Given the description of an element on the screen output the (x, y) to click on. 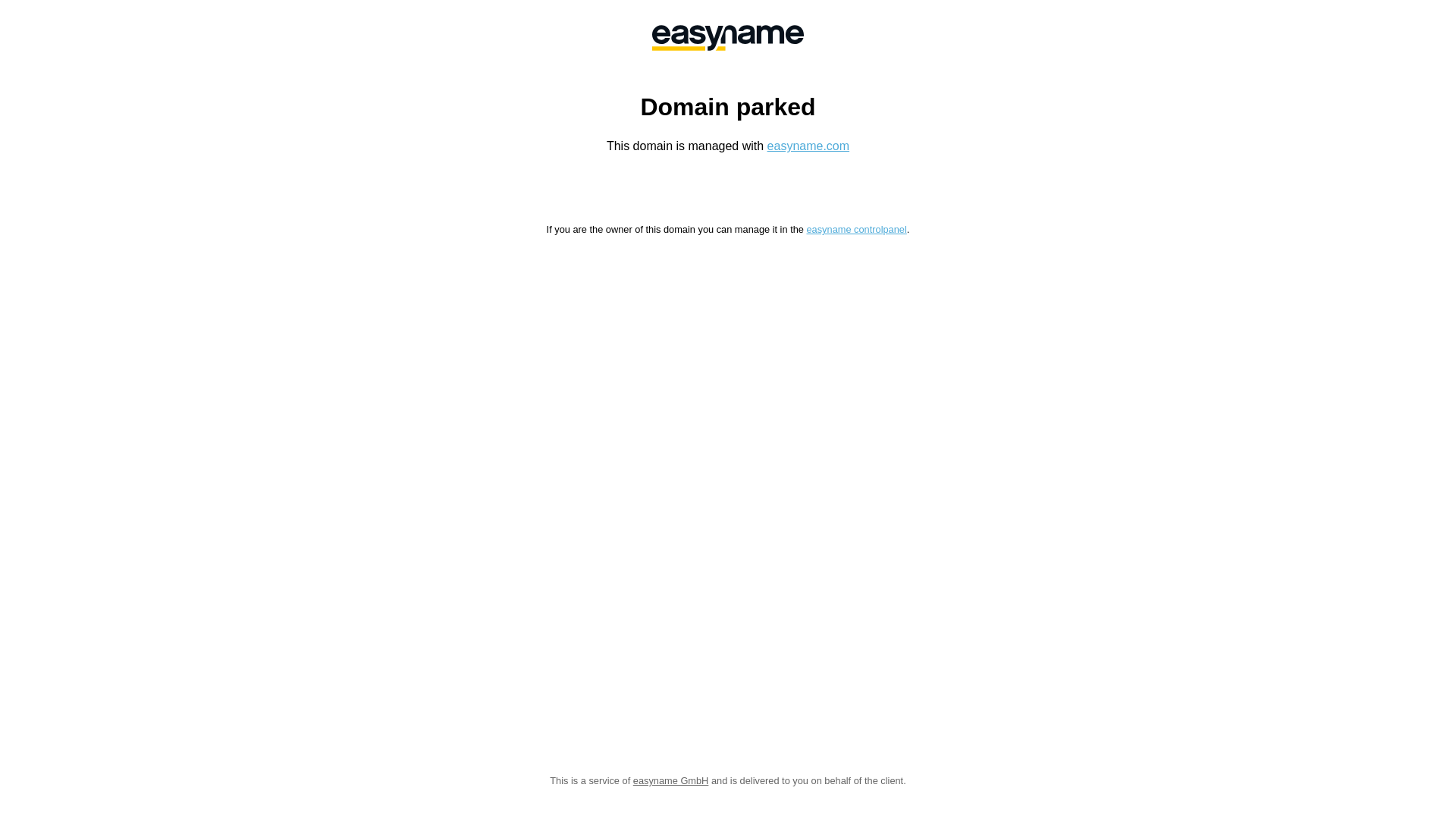
easyname.com Element type: text (808, 145)
easyname GmbH Element type: hover (727, 37)
easyname controlpanel Element type: text (856, 229)
easyname GmbH Element type: text (671, 780)
